Given the description of an element on the screen output the (x, y) to click on. 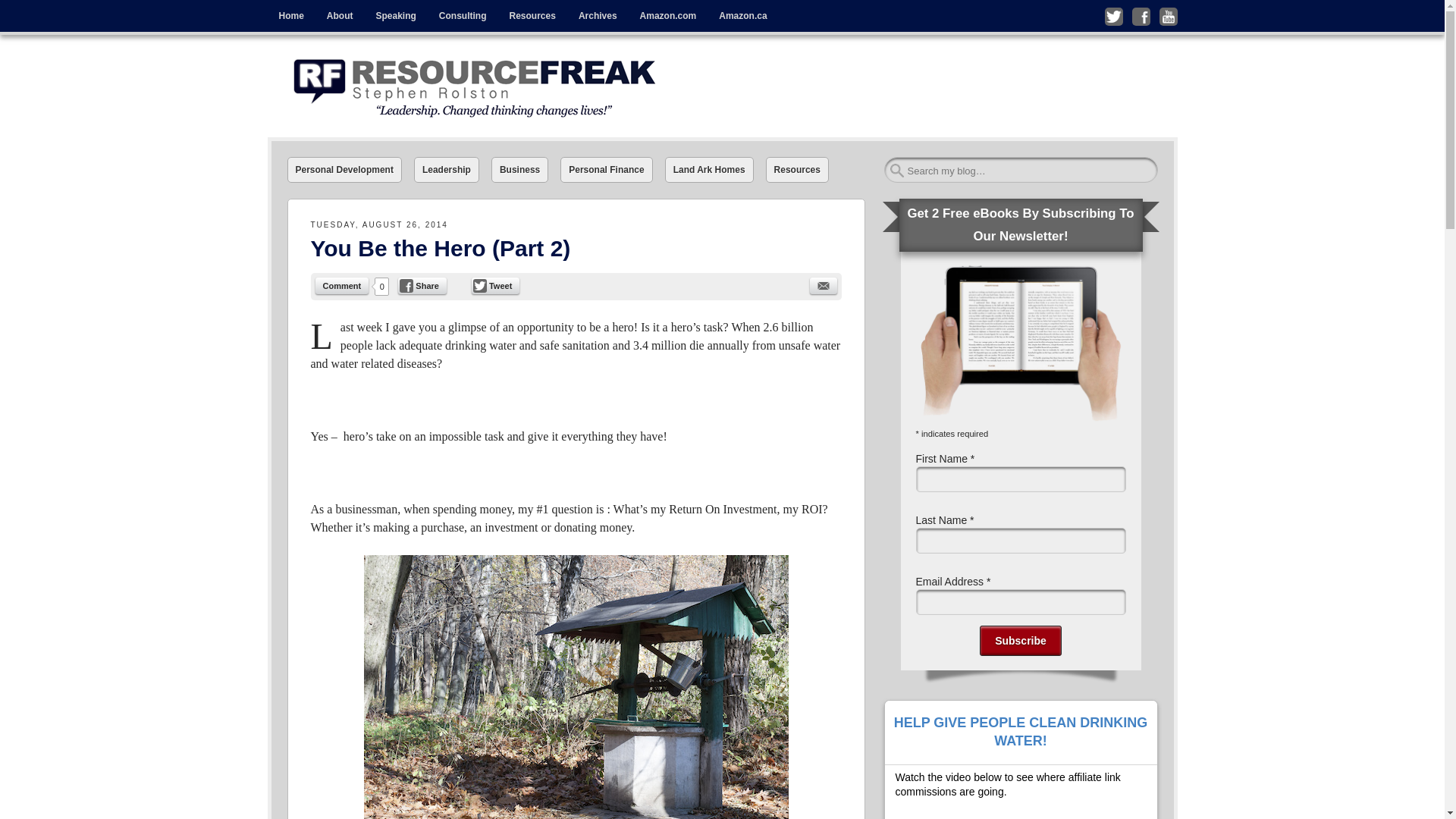
Tweet (495, 285)
Like me on Facebook (1140, 16)
email (823, 285)
About (340, 15)
Share (421, 285)
Comment on this Post (342, 285)
Amazon.com (667, 15)
Home (290, 15)
Comment (342, 285)
Resources (796, 169)
Personal Finance (606, 169)
Tweet this Post (495, 285)
Subscribe (1020, 640)
Resources (532, 15)
Consulting (462, 15)
